Given the description of an element on the screen output the (x, y) to click on. 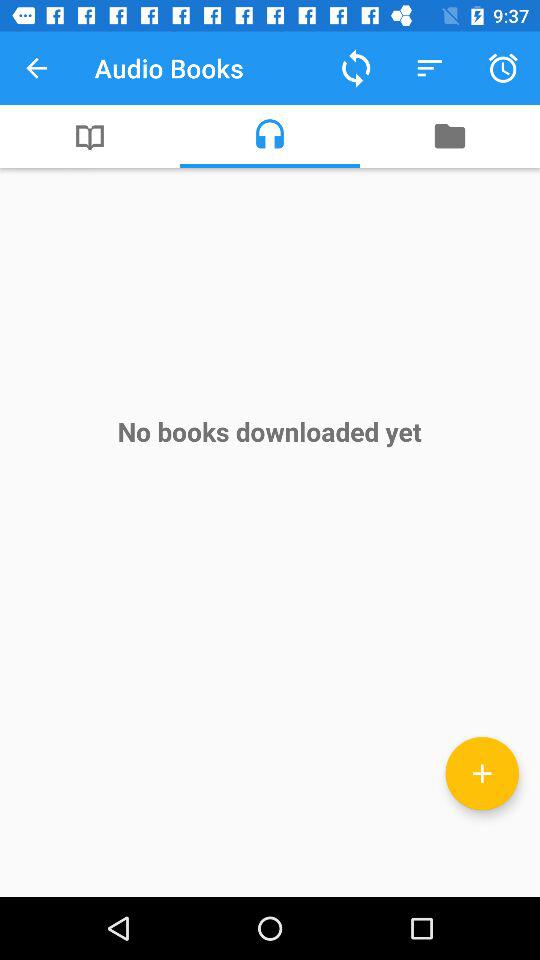
select icon to the left of the audio books item (36, 68)
